Given the description of an element on the screen output the (x, y) to click on. 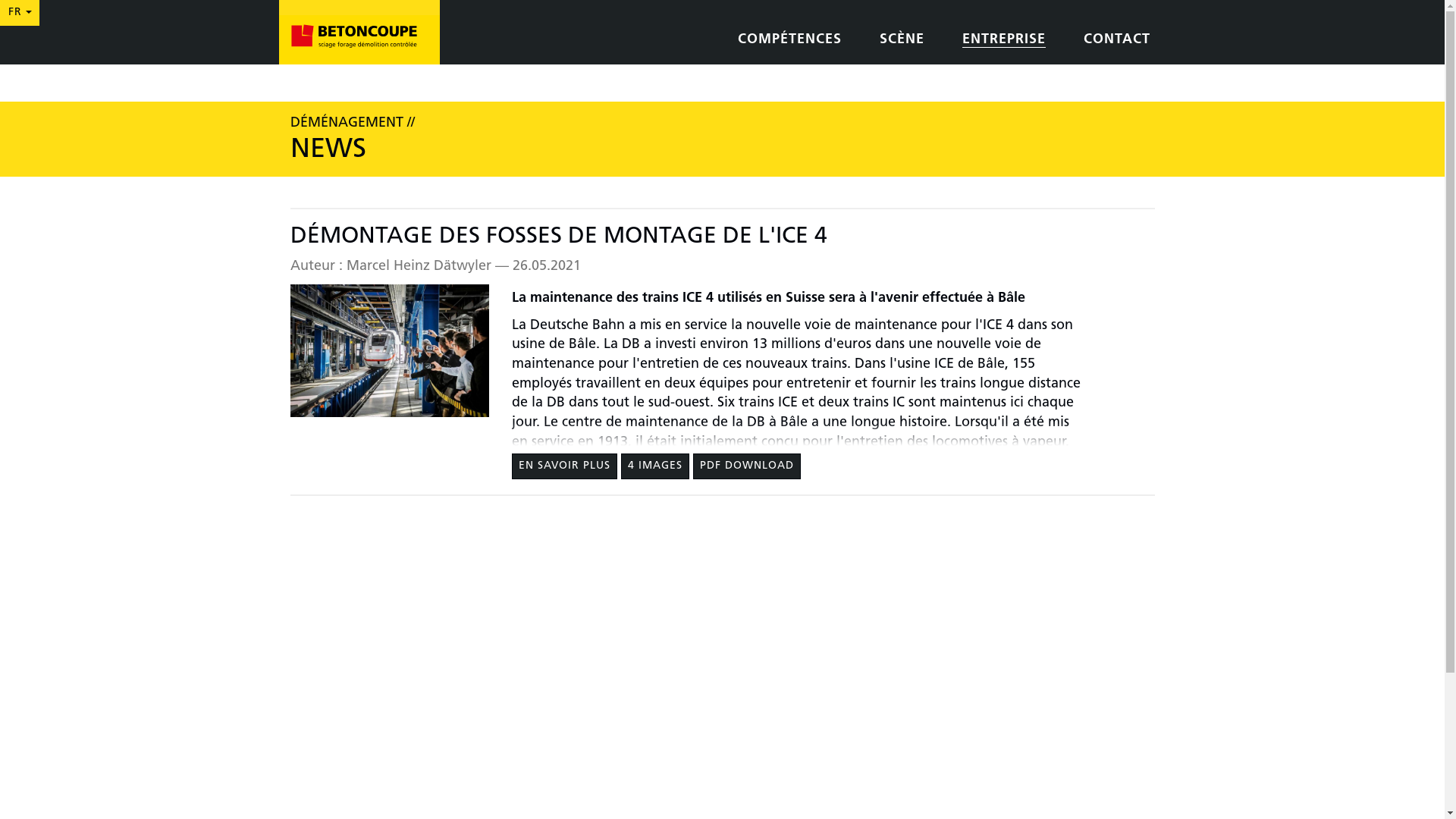
PDF Download Element type: text (746, 466)
ENTREPRISE Element type: text (1003, 40)
EN SAVOIR PLUS Element type: text (564, 466)
CONTACT Element type: text (1116, 40)
FR Element type: text (19, 12)
